Given the description of an element on the screen output the (x, y) to click on. 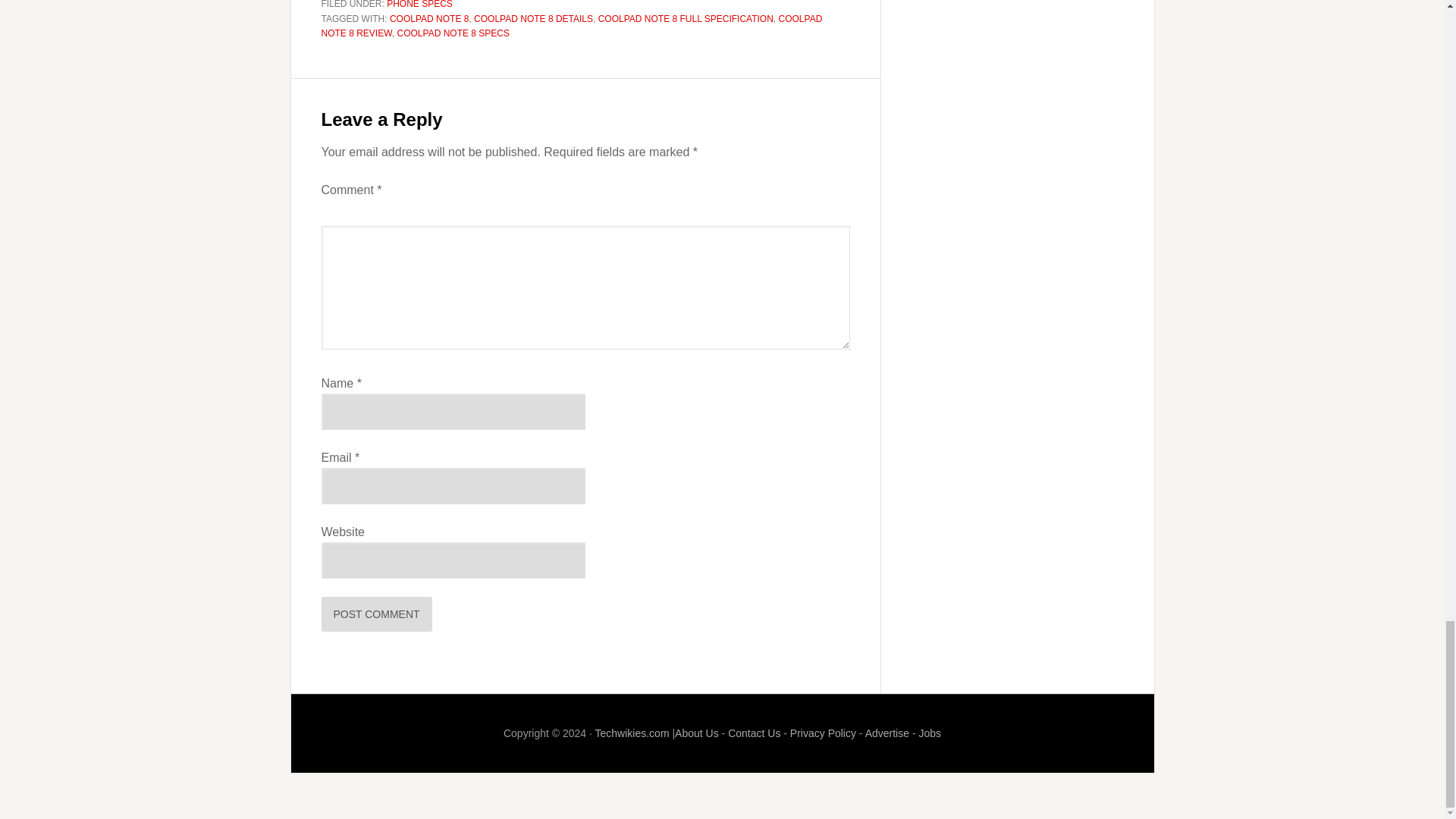
PHONE SPECS (419, 4)
Post Comment (376, 614)
COOLPAD NOTE 8 SPECS (453, 32)
COOLPAD NOTE 8 (429, 18)
Post Comment (376, 614)
COOLPAD NOTE 8 FULL SPECIFICATION (685, 18)
COOLPAD NOTE 8 REVIEW (571, 26)
COOLPAD NOTE 8 DETAILS (533, 18)
